Given the description of an element on the screen output the (x, y) to click on. 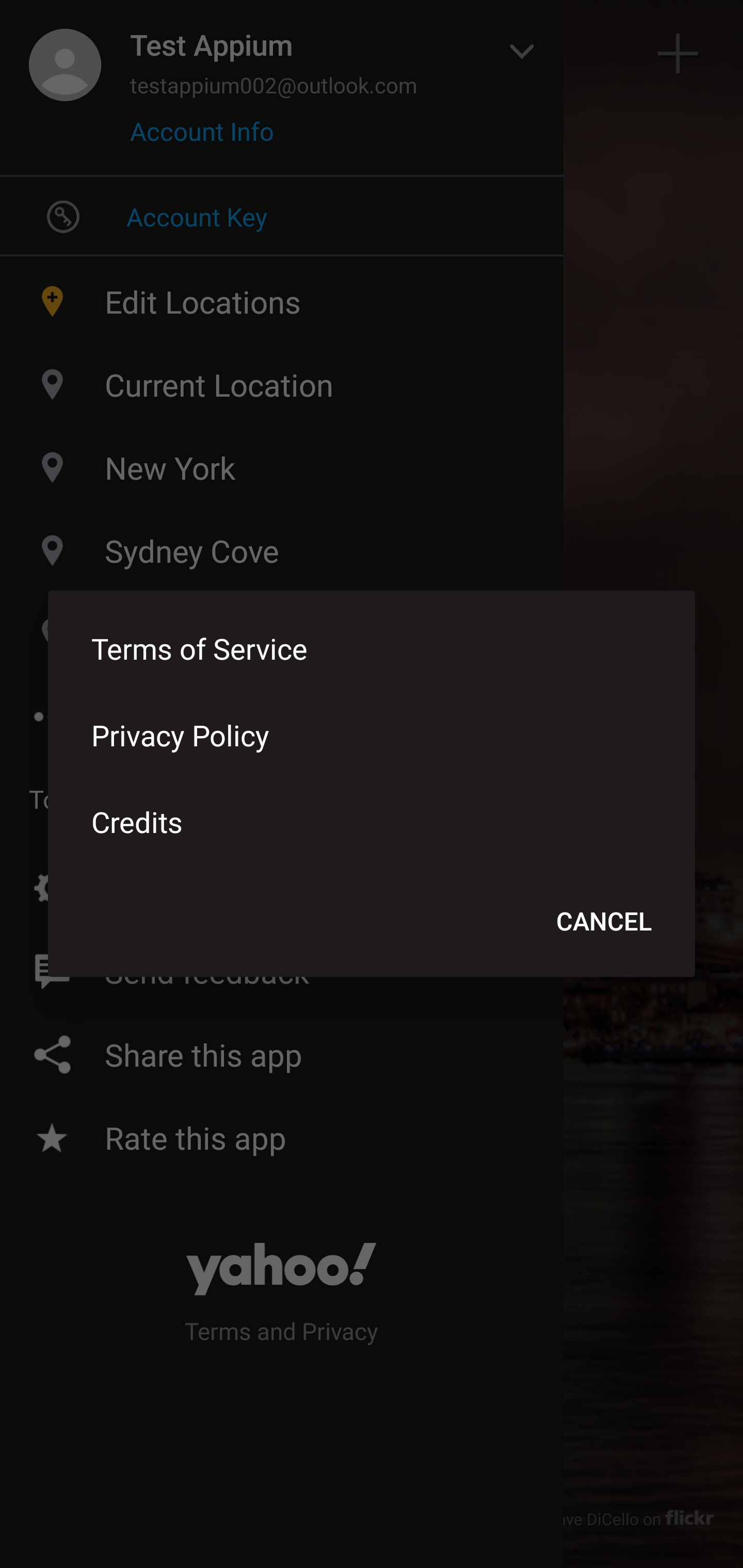
Terms of Service (371, 648)
Privacy Policy (371, 734)
Credits (371, 821)
CANCEL (603, 920)
